Given the description of an element on the screen output the (x, y) to click on. 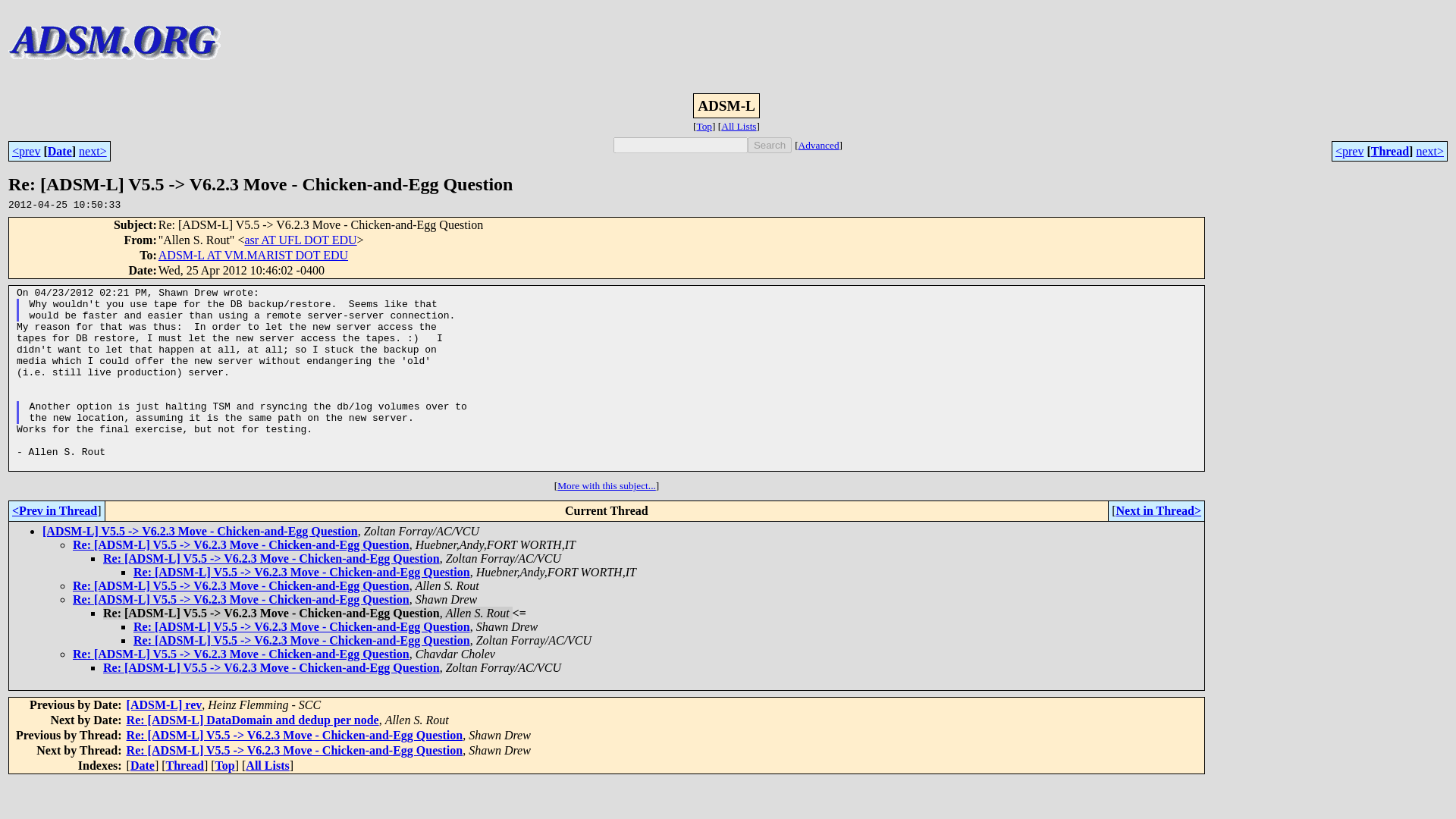
Date (142, 765)
asr AT UFL DOT EDU (300, 239)
Top (703, 125)
Thread (184, 765)
Date (59, 150)
ADSM-L AT VM.MARIST DOT EDU (252, 254)
Thread (1390, 150)
Search (770, 145)
Advanced (818, 144)
Top (224, 765)
Search (770, 145)
All Lists (267, 765)
More with this subject... (606, 485)
All Lists (737, 125)
